Given the description of an element on the screen output the (x, y) to click on. 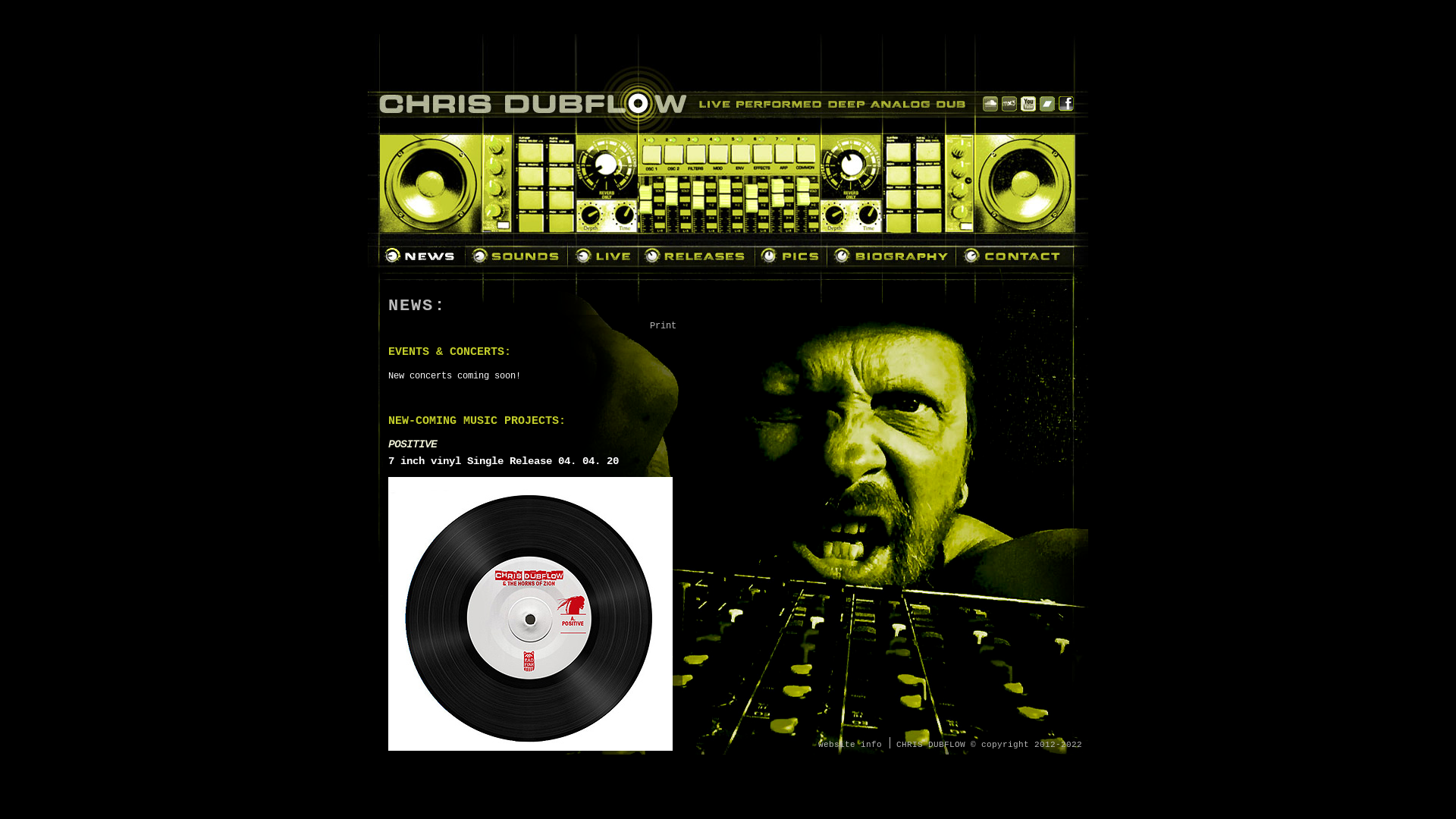
BANDCAMP Element type: hover (1046, 103)
SOUNDS Element type: hover (516, 255)
PICS Element type: hover (791, 255)
BIOGRAPHY Element type: hover (891, 255)
Print Element type: text (662, 324)
Positive 7 inch vinyl Single Release 04. 04. 20 Element type: hover (530, 618)
NEWS Element type: hover (421, 255)
FACEBOOK Element type: hover (1065, 103)
SOUNCLOUD Element type: hover (989, 103)
website info Element type: text (849, 743)
RELEASES Element type: hover (696, 255)
MX3 Element type: hover (1008, 103)
CONTACT Element type: hover (1014, 255)
LIVE Element type: hover (602, 255)
YOUTUBE Element type: hover (1027, 103)
